Given the description of an element on the screen output the (x, y) to click on. 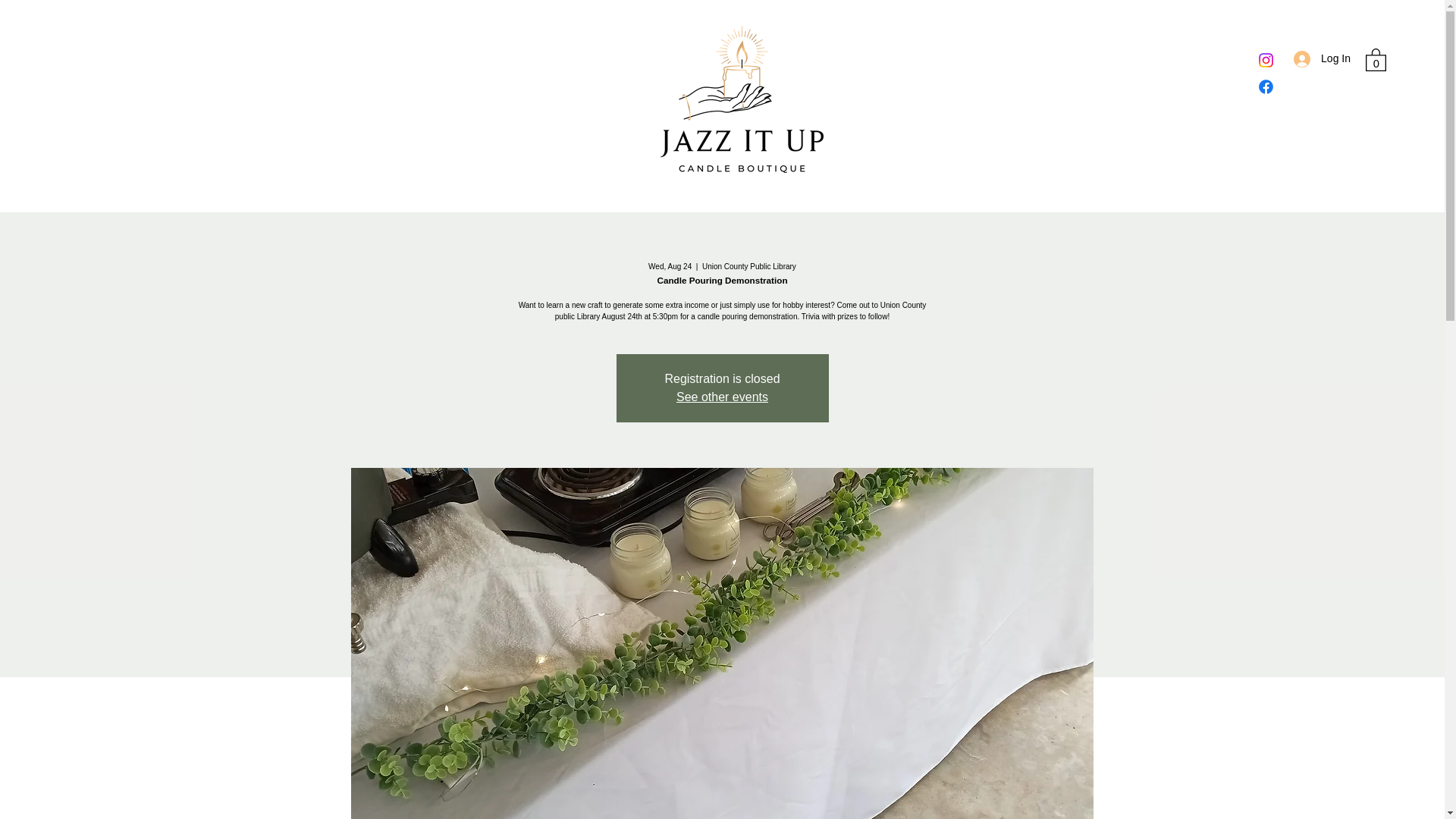
See other events (722, 396)
0 (1375, 58)
Log In (1321, 58)
0 (1375, 58)
